Given the description of an element on the screen output the (x, y) to click on. 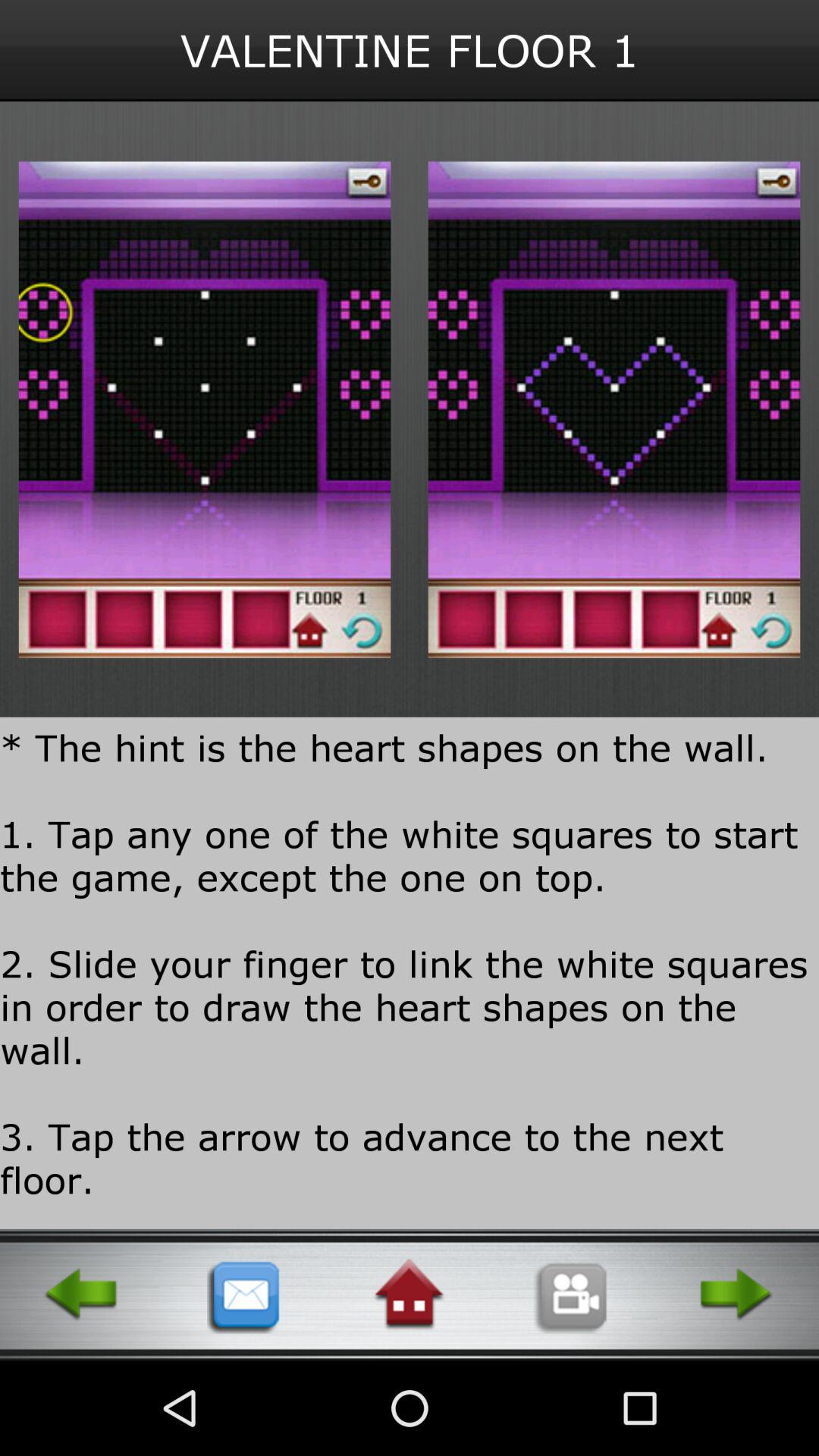
home menu (409, 1294)
